Given the description of an element on the screen output the (x, y) to click on. 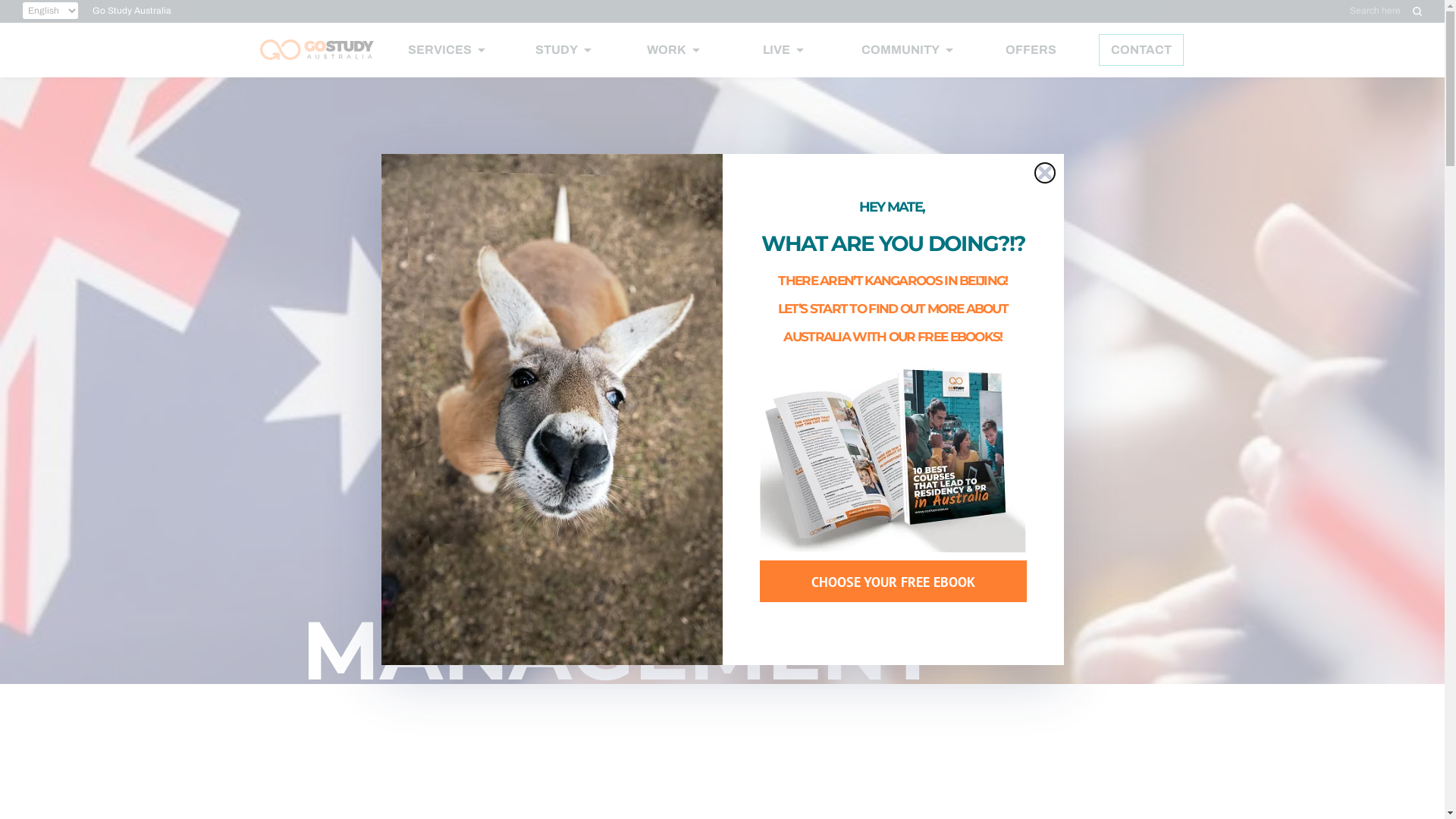
COMMUNITY Element type: text (906, 49)
STUDY Element type: text (563, 49)
WORK Element type: text (673, 49)
CONTACT Element type: text (1141, 49)
CHOOSE YOUR FREE EBOOK Element type: text (892, 581)
LIVE Element type: text (783, 49)
OFFERS Element type: text (1030, 49)
SERVICES Element type: text (446, 49)
Close Element type: hover (1044, 172)
